Given the description of an element on the screen output the (x, y) to click on. 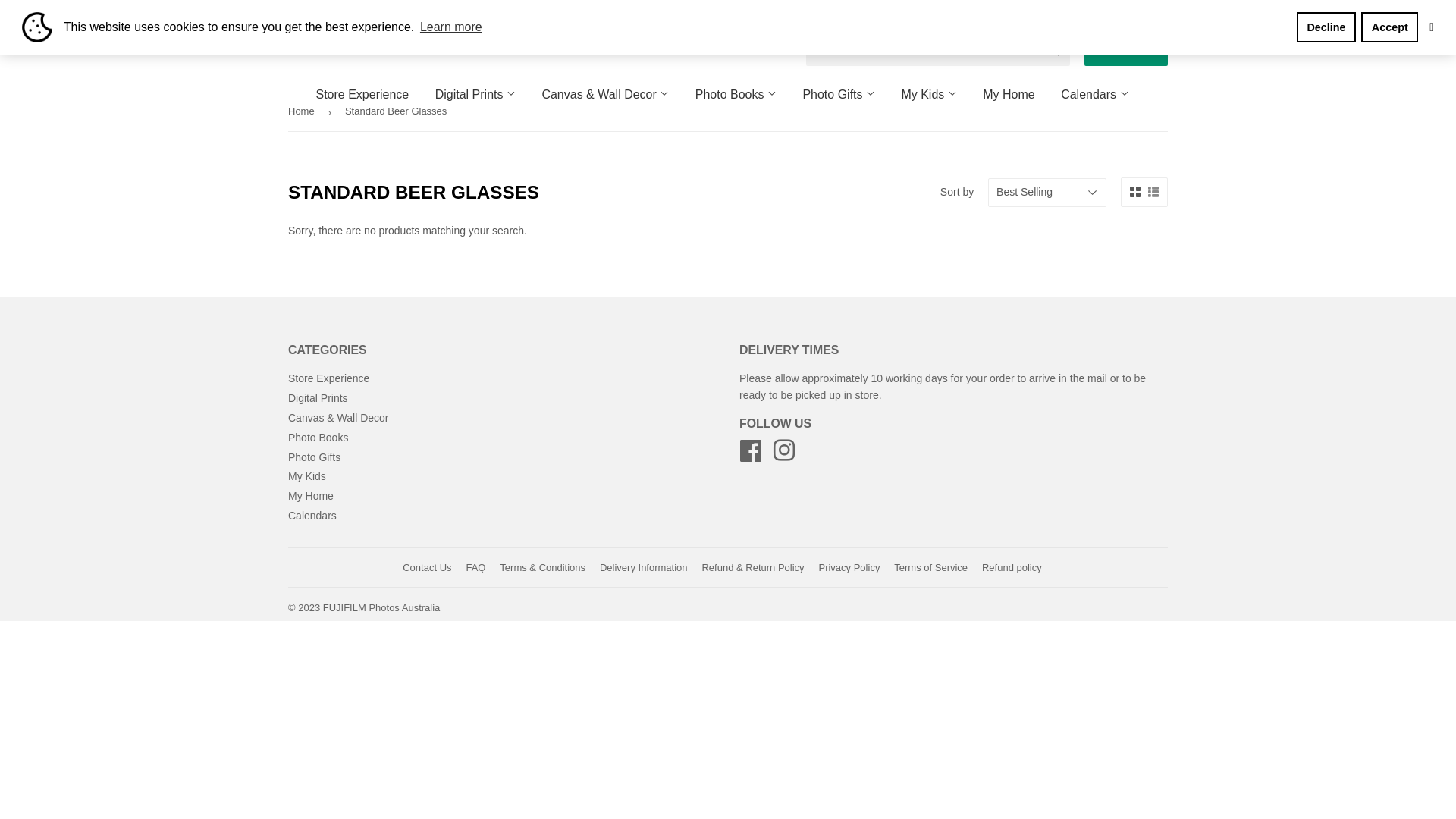
FAQs Element type: text (1035, 15)
Photo Books Element type: text (318, 437)
Canvas & Wall Decor Element type: text (605, 94)
Search Element type: text (1052, 49)
Learn more Element type: text (450, 26)
My Home Element type: text (1008, 94)
Refund policy Element type: text (1011, 567)
Contact Us Element type: text (426, 567)
Calendars Element type: text (1094, 94)
Contact Us Element type: text (982, 15)
Calendars Element type: text (312, 515)
Home Element type: text (304, 111)
Photo Gifts Element type: text (314, 457)
Store Experience Element type: text (362, 94)
My Kids Element type: text (307, 476)
My Kids Element type: text (928, 94)
Privacy Policy Element type: text (848, 567)
List view Element type: hover (1153, 191)
Terms & Conditions Element type: text (542, 567)
Refund & Return Policy Element type: text (752, 567)
FUJIFILM Photos Australia Element type: text (381, 607)
House of Photography Element type: text (1114, 15)
Login/Register Element type: text (1125, 48)
Decline Element type: text (1325, 27)
My Home Element type: text (310, 495)
Grid view Element type: hover (1134, 191)
Delivery Information Element type: text (894, 15)
Facebook Element type: text (750, 455)
Digital Prints Element type: text (475, 94)
Terms of Service Element type: text (930, 567)
FAQ Element type: text (475, 567)
Store Experience Element type: text (328, 378)
Digital Prints Element type: text (318, 398)
Accept Element type: text (1389, 27)
Canvas & Wall Decor Element type: text (338, 417)
Delivery Information Element type: text (643, 567)
Instagram Element type: text (783, 455)
Photo Books Element type: text (735, 94)
Photo Gifts Element type: text (838, 94)
